Given the description of an element on the screen output the (x, y) to click on. 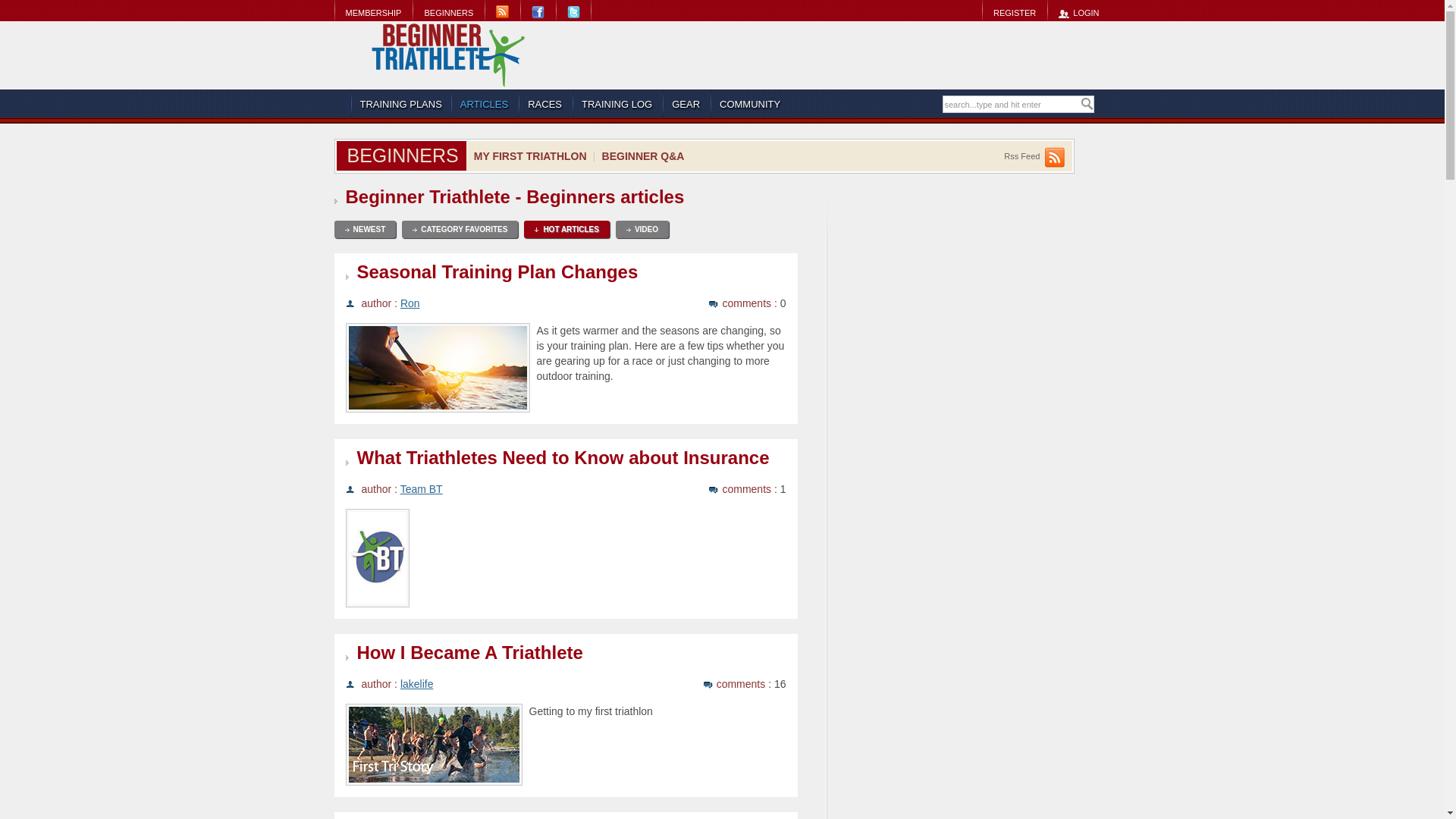
RACES (545, 104)
search...type and hit enter (1010, 104)
TRAINING LOG (616, 104)
TRAINING PLANS (400, 104)
BEGINNERS (448, 12)
ARTICLES (484, 104)
MEMBERSHIP (372, 12)
3rd party ad content (838, 55)
LOGIN (1077, 12)
REGISTER (1013, 12)
